Given the description of an element on the screen output the (x, y) to click on. 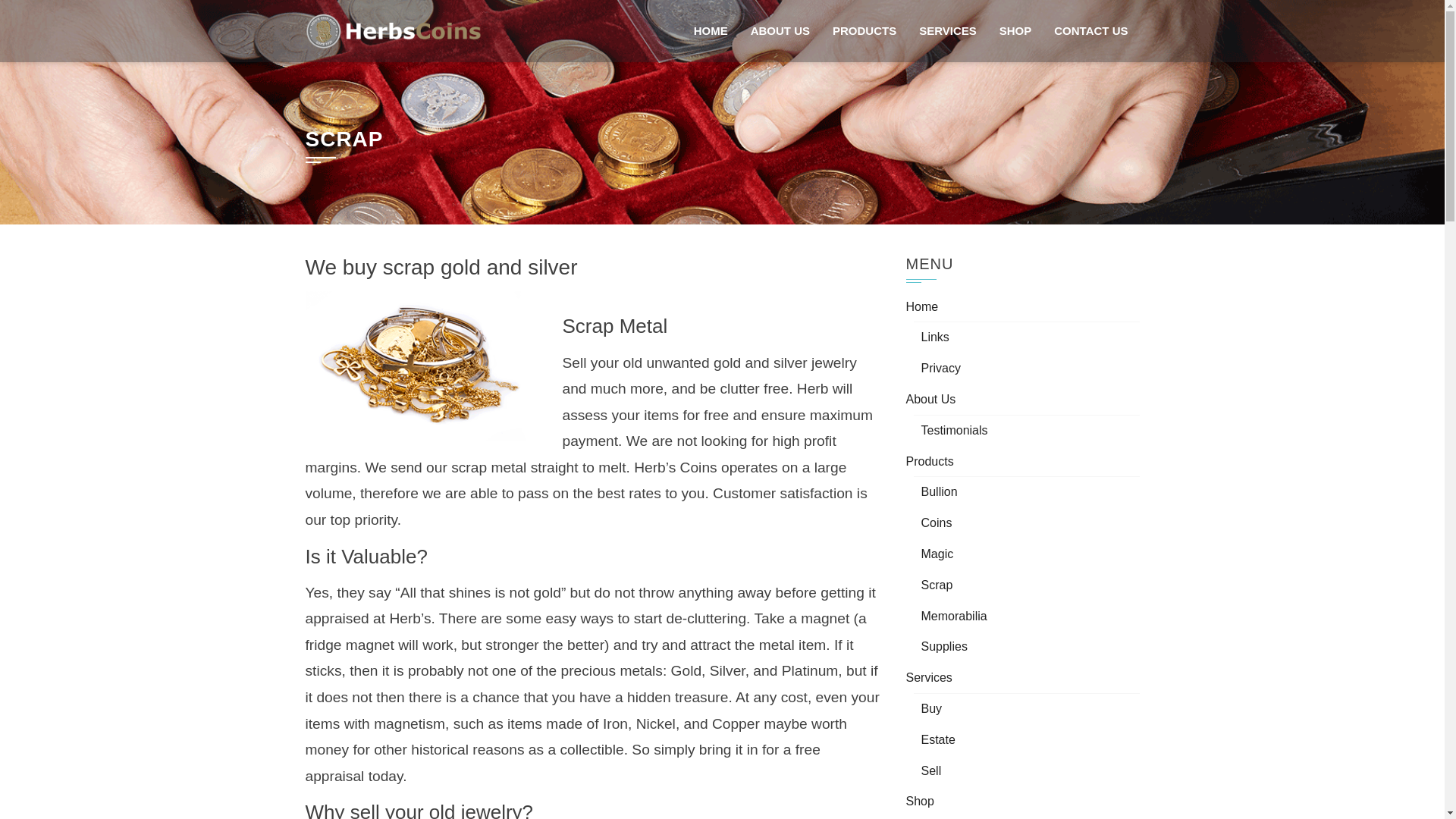
Estate (937, 739)
ABOUT US (780, 31)
SERVICES (947, 31)
Buy (931, 707)
SHOP (1015, 31)
Home (921, 306)
Sell (930, 770)
Testimonials (953, 430)
Magic (936, 553)
Memorabilia (953, 615)
Privacy (939, 367)
HOME (710, 31)
Services (928, 676)
Bullion (938, 491)
CONTACT US (1090, 31)
